Given the description of an element on the screen output the (x, y) to click on. 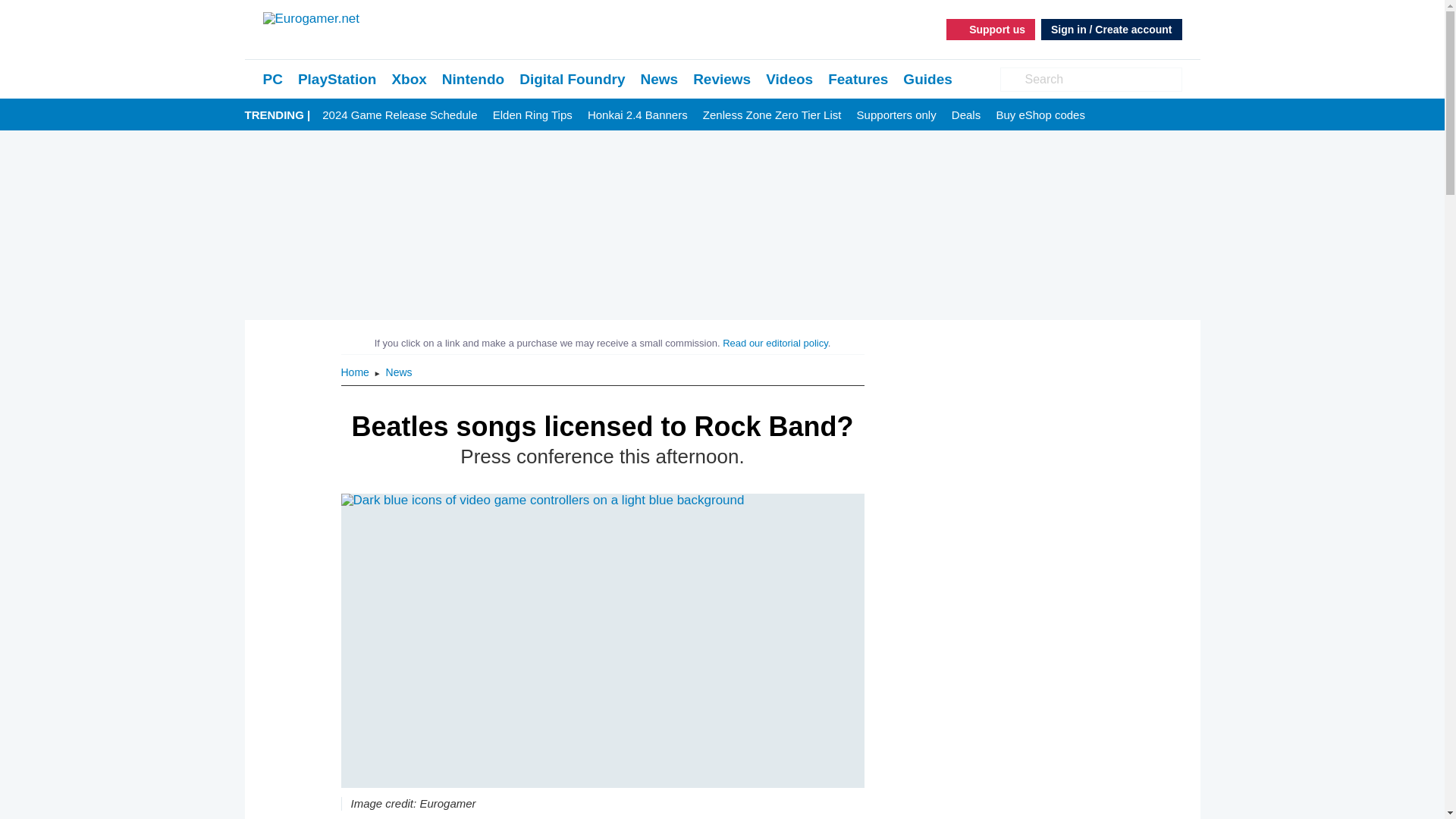
News (659, 78)
Deals (965, 114)
Home (356, 372)
Xbox (408, 78)
Supporters only (896, 114)
2024 Game Release Schedule (399, 114)
Zenless Zone Zero Tier List (772, 114)
Zenless Zone Zero Tier List (772, 114)
News (398, 372)
Reviews (722, 78)
Videos (788, 78)
Nintendo (472, 78)
Home (356, 372)
Features (858, 78)
Support us (990, 29)
